Given the description of an element on the screen output the (x, y) to click on. 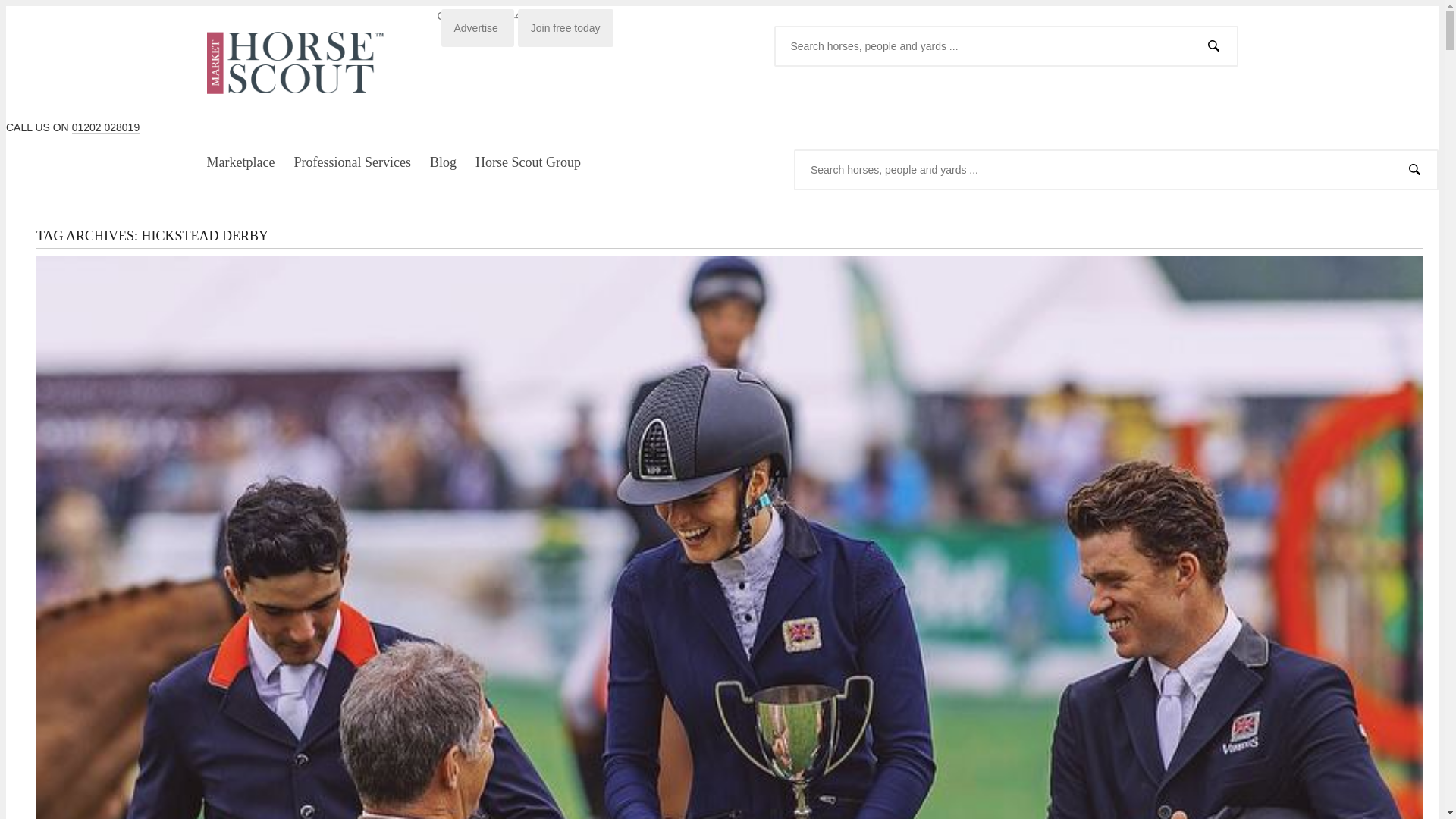
Advertise (477, 27)
Blog (443, 161)
01202 028019 (105, 127)
Marketplace (240, 161)
Search (1213, 45)
Professional Services (352, 161)
Search (1414, 168)
Horse Scout Group (528, 161)
Join free today (565, 27)
